Given the description of an element on the screen output the (x, y) to click on. 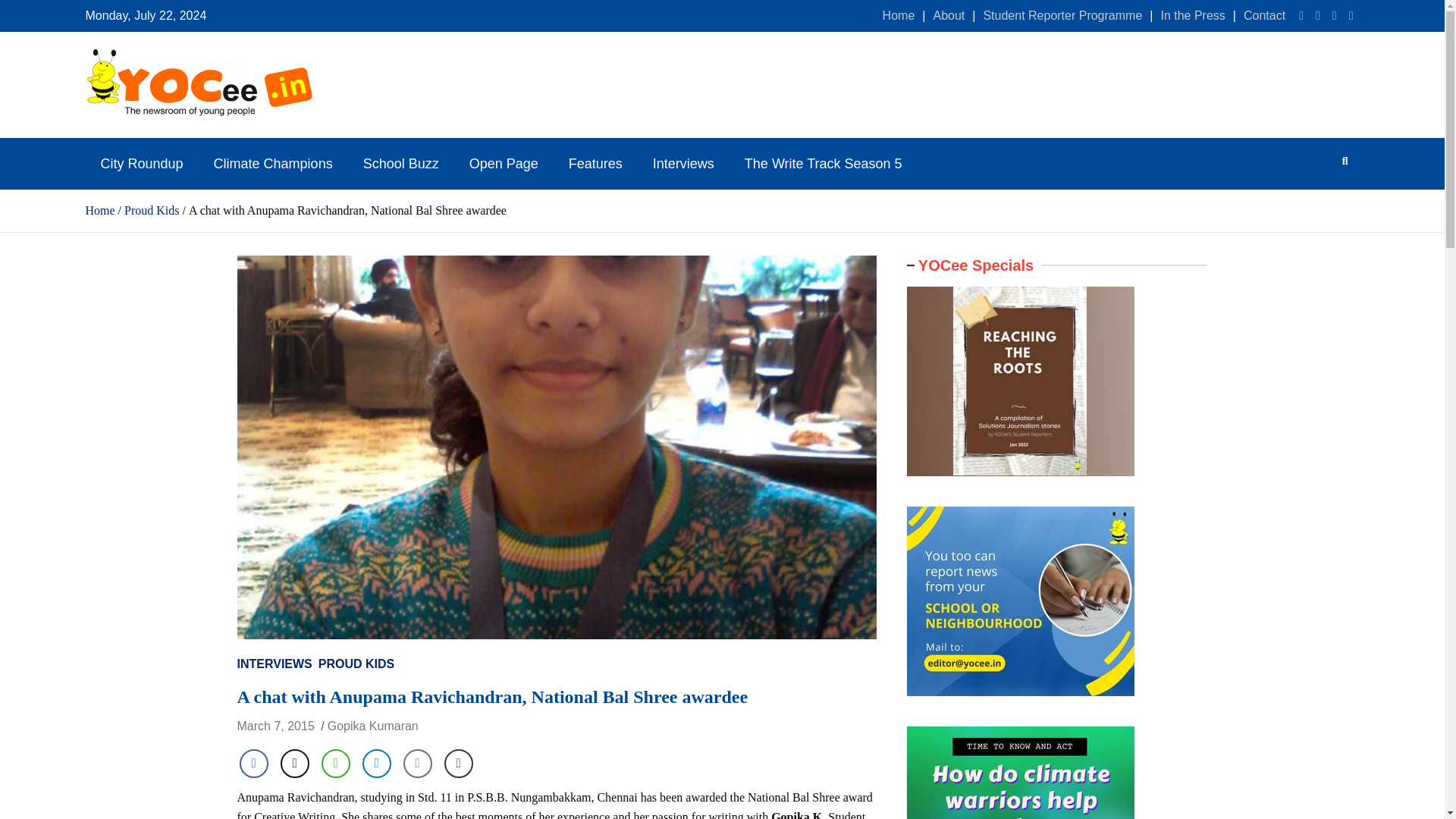
Student Reporter Programme (1061, 15)
YOCee (122, 137)
In the Press (1192, 15)
Contact (1264, 15)
Open Page (503, 164)
School Buzz (400, 164)
The Write Track Season 5 (823, 164)
Gopika Kumaran (373, 725)
A chat with Anupama Ravichandran, National Bal Shree awardee (274, 725)
City Roundup (141, 164)
Climate Champions (272, 164)
Proud Kids (151, 210)
INTERVIEWS (273, 664)
Home (898, 15)
Interviews (683, 164)
